Given the description of an element on the screen output the (x, y) to click on. 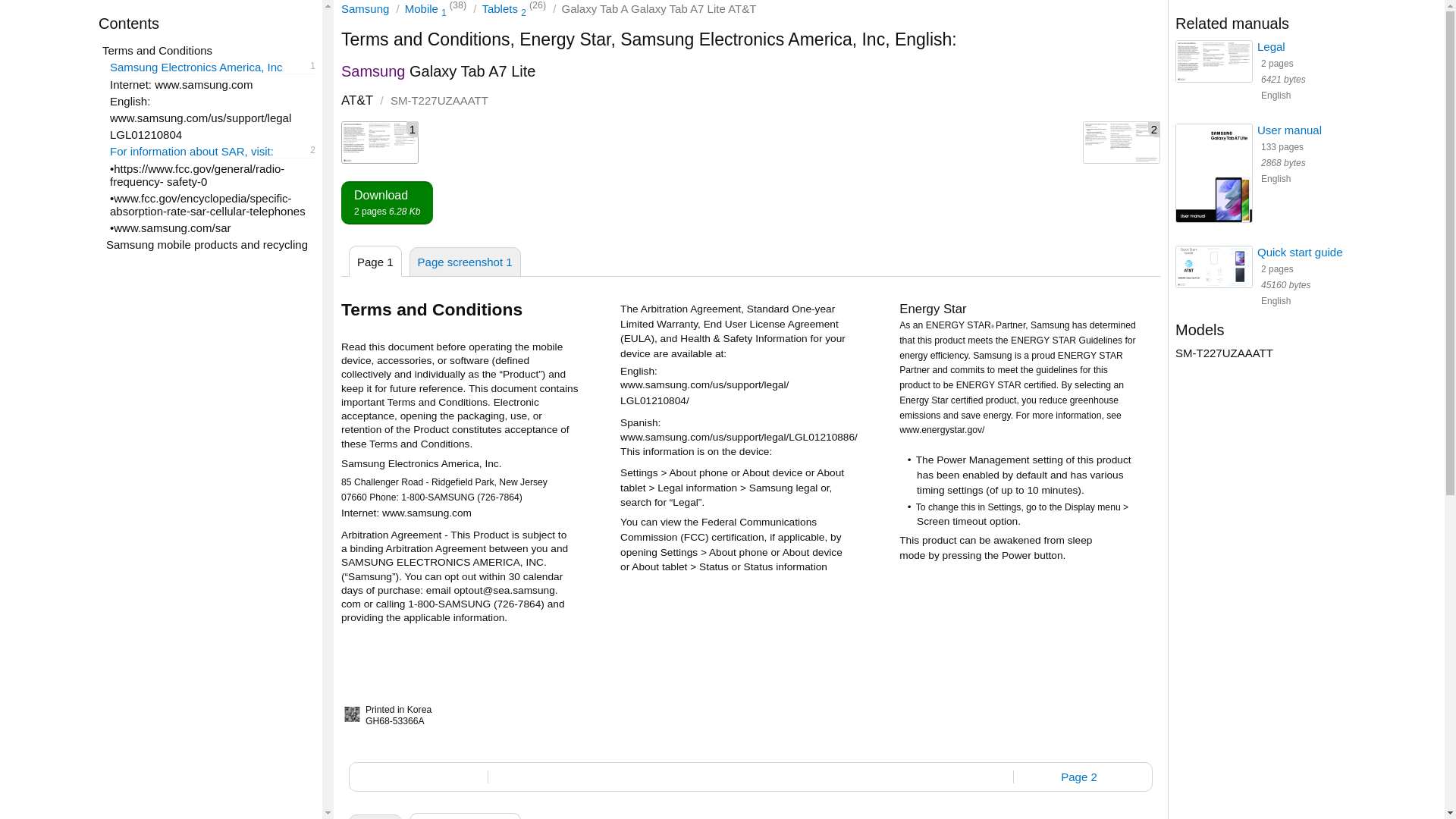
Page 2 (1078, 776)
Page 1 (375, 816)
2 (1121, 143)
Page screenshot 1 (465, 261)
For information about SAR, visit: (212, 151)
Samsung Electronics America, Inc (386, 202)
Samsung (212, 67)
1 (364, 8)
